Given the description of an element on the screen output the (x, y) to click on. 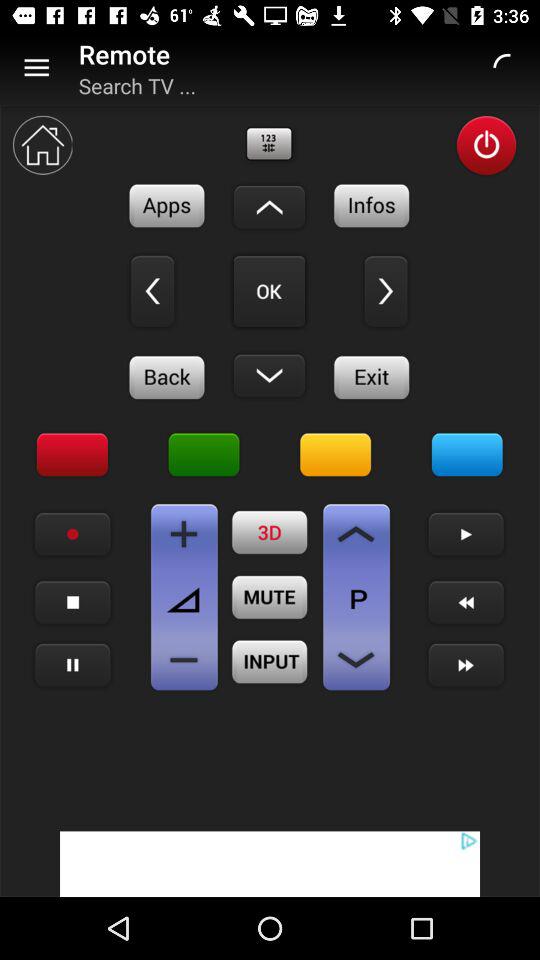
turn power on (486, 145)
